Given the description of an element on the screen output the (x, y) to click on. 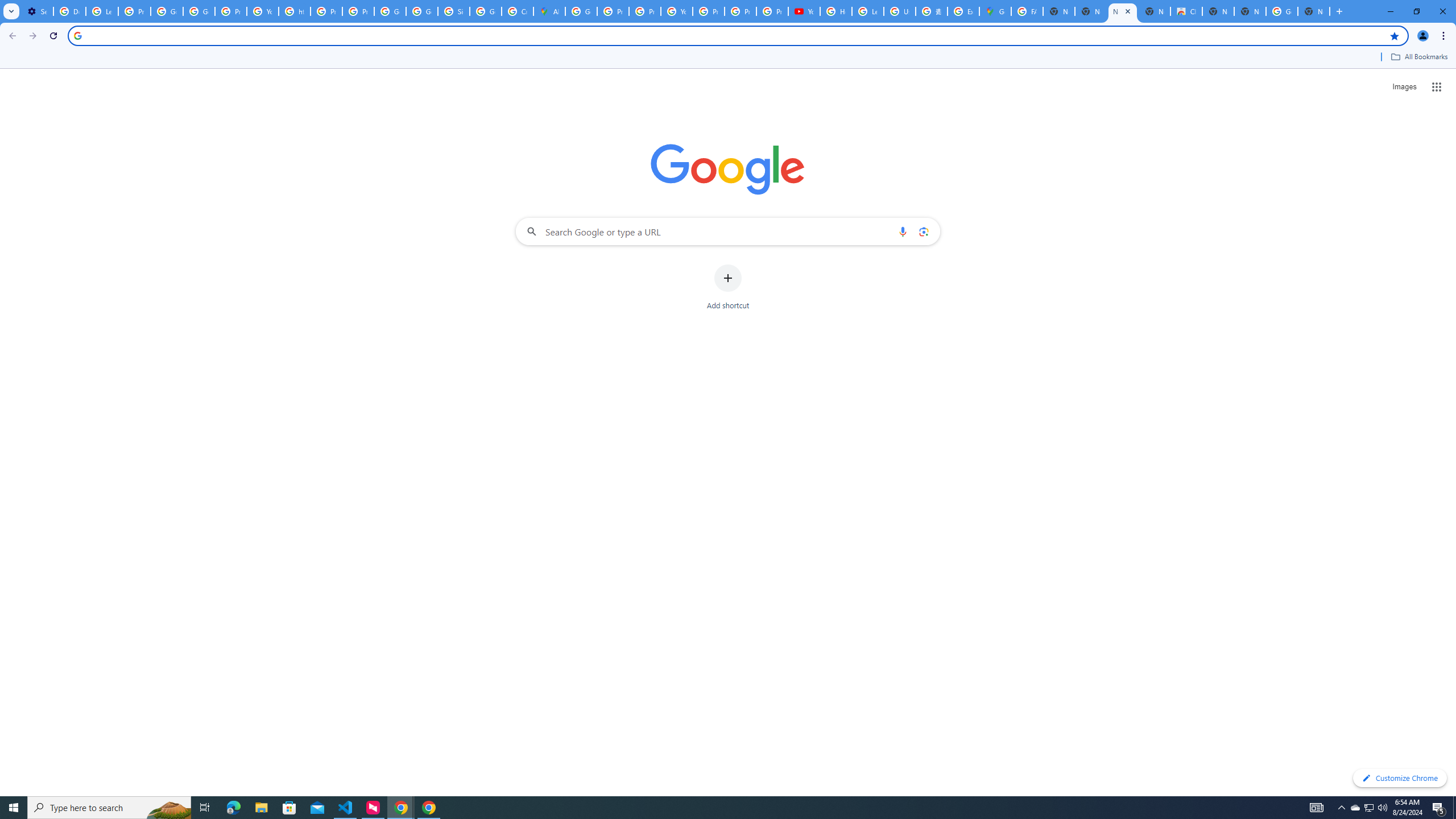
Privacy Help Center - Policies Help (644, 11)
Sign in - Google Accounts (453, 11)
